Given the description of an element on the screen output the (x, y) to click on. 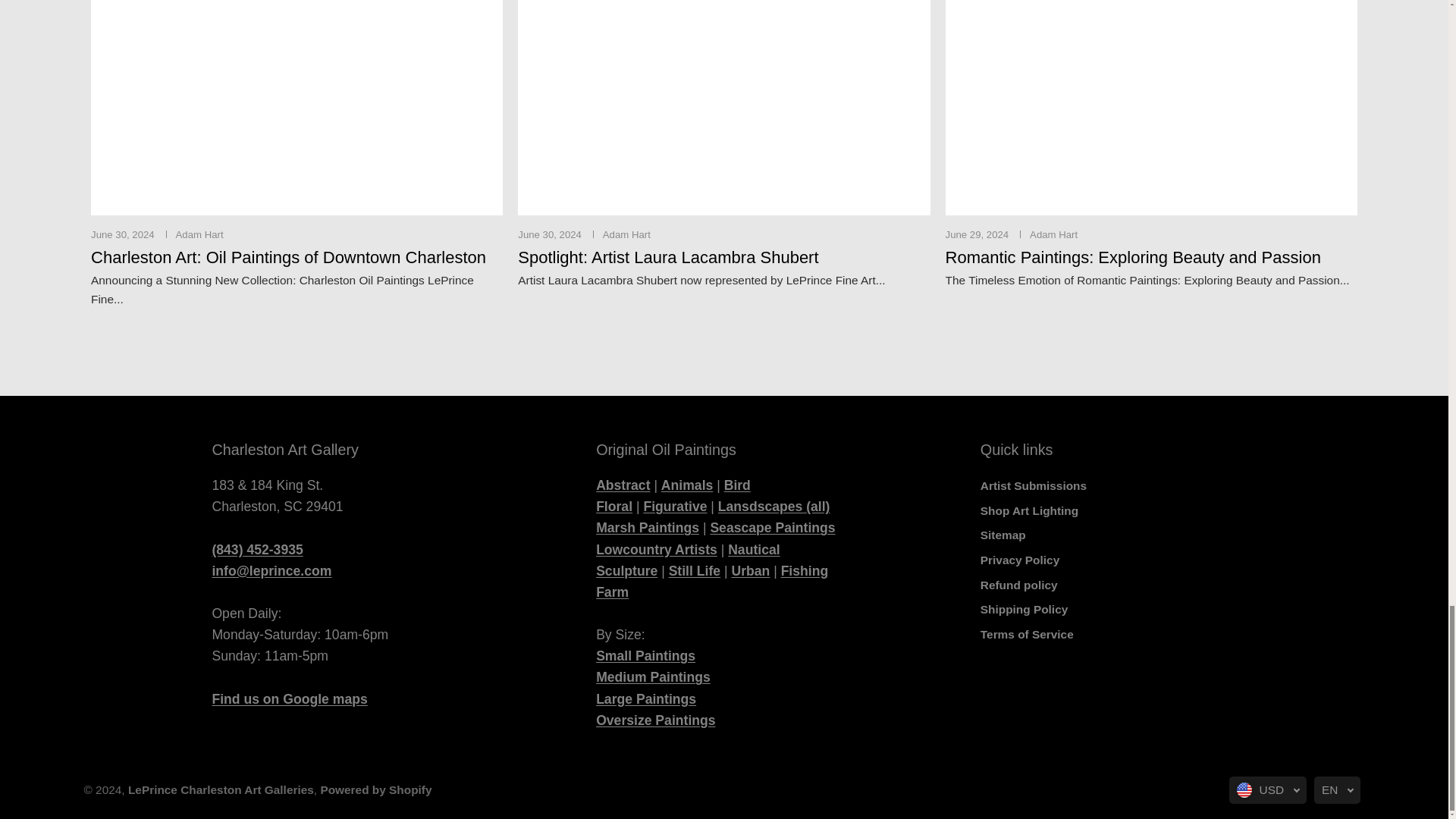
Animal Oil Paintings (687, 485)
Landscape Oil Paintings (773, 506)
Oil Paintings of Birds (737, 485)
Figurative Oil Paintings (674, 506)
Floral Oil Paintings (613, 506)
Abstract Oil Paintings (622, 485)
